Given the description of an element on the screen output the (x, y) to click on. 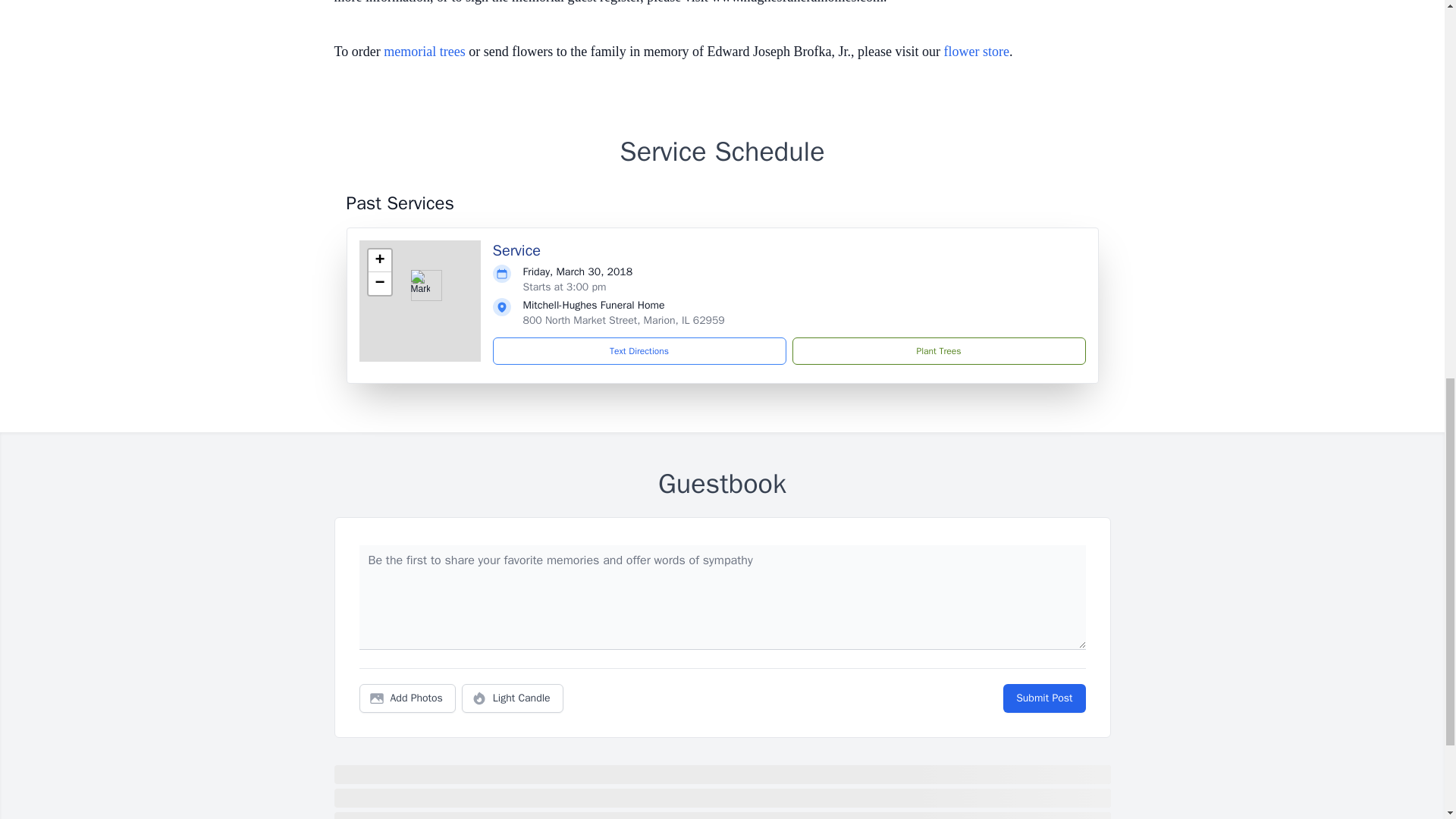
flower store (976, 51)
Light Candle (512, 697)
Text Directions (639, 350)
Plant Trees (938, 350)
800 North Market Street, Marion, IL 62959 (623, 319)
Zoom in (379, 260)
Submit Post (1043, 697)
Zoom out (379, 282)
memorial trees (424, 51)
Add Photos (407, 697)
